Given the description of an element on the screen output the (x, y) to click on. 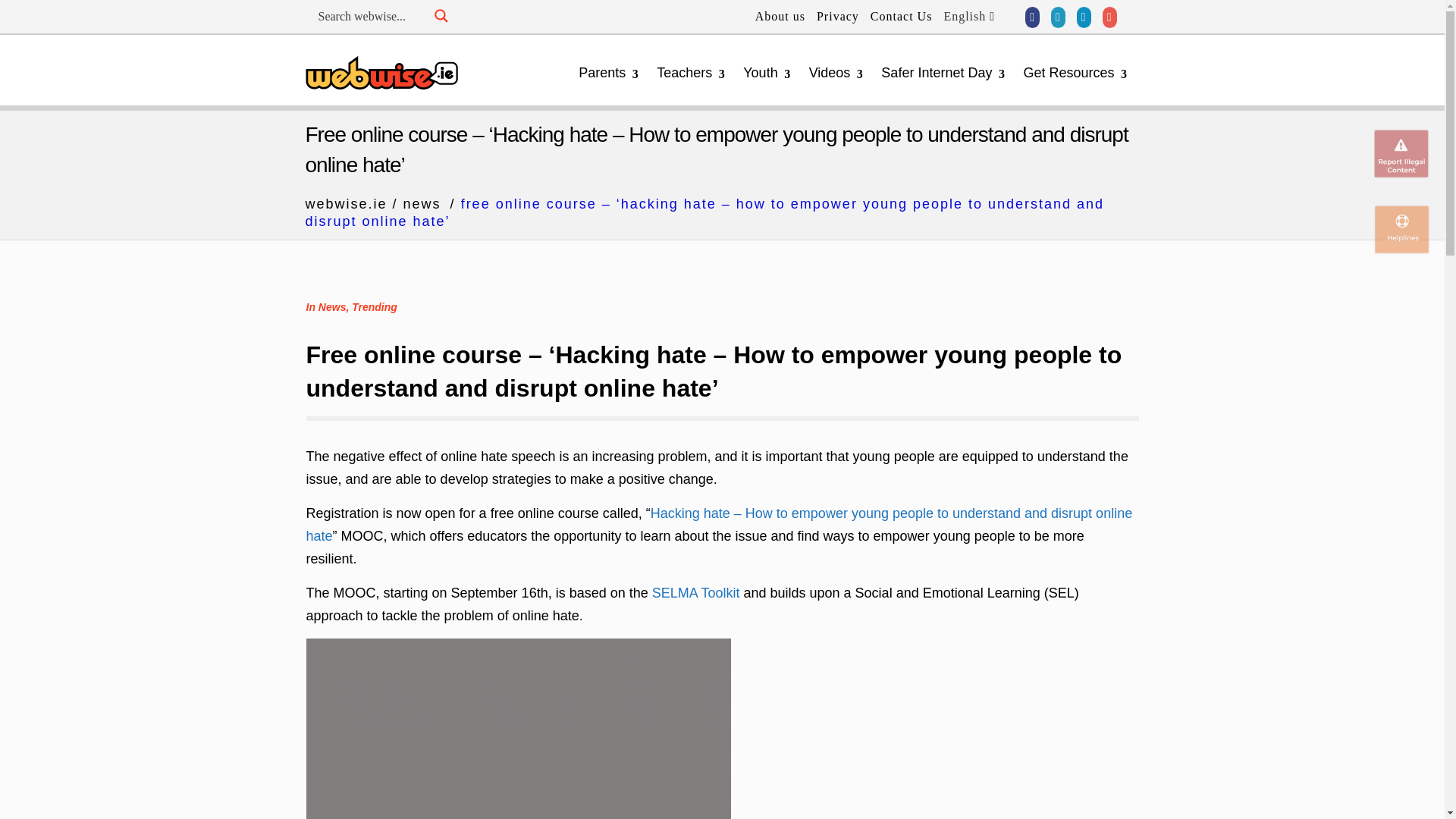
Safer Internet Day (945, 72)
Parents (611, 72)
English (962, 16)
Privacy (832, 16)
Contact Us (896, 16)
Videos (839, 72)
Teachers (693, 72)
About us (774, 16)
English (962, 16)
